Given the description of an element on the screen output the (x, y) to click on. 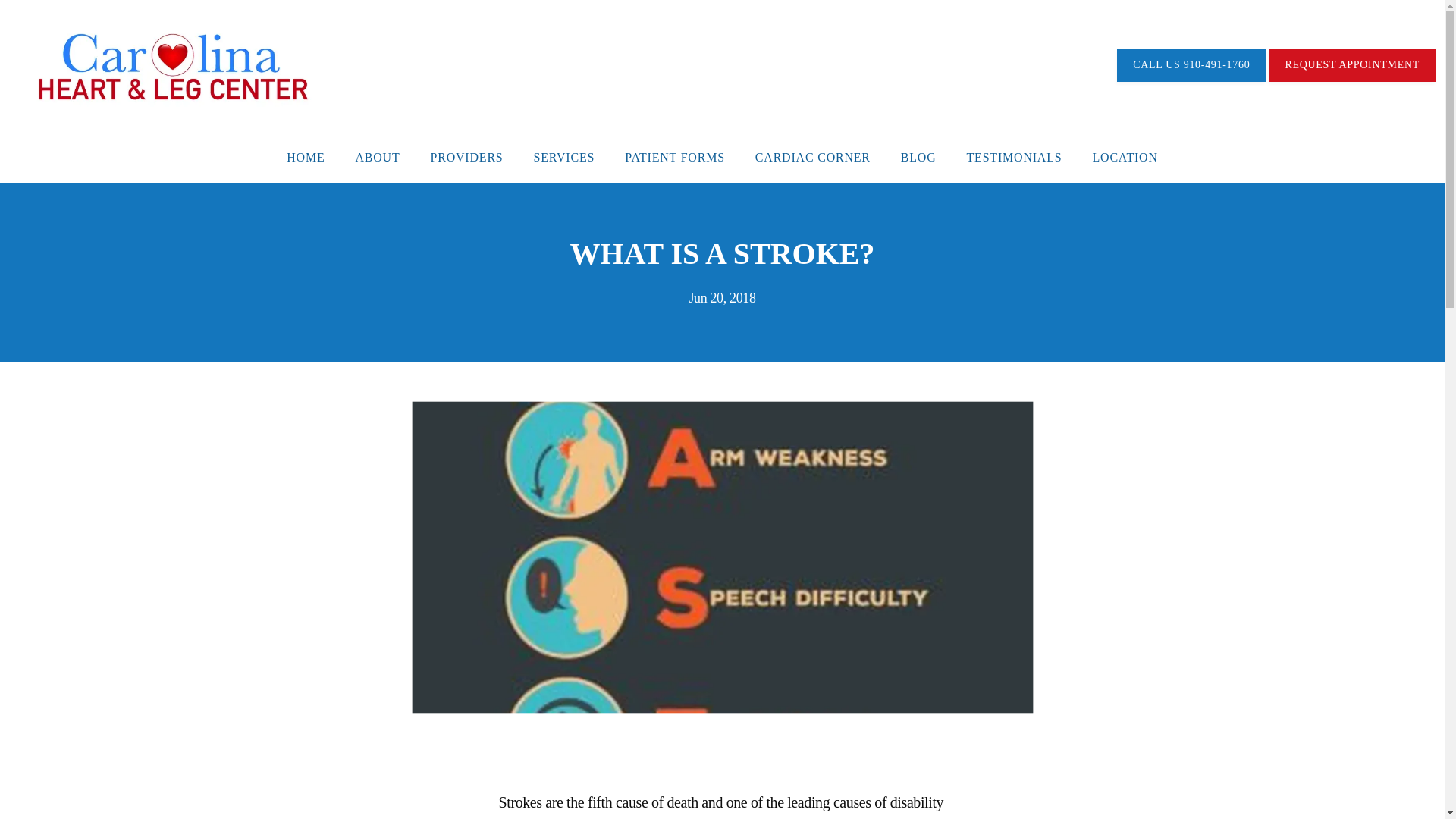
PATIENT FORMS (674, 156)
TESTIMONIALS (1014, 156)
SERVICES (564, 156)
BLOG (918, 156)
PROVIDERS (466, 156)
CARDIAC CORNER (812, 156)
REQUEST APPOINTMENT (1351, 65)
HOME (305, 156)
CALL US 910-491-1760 (1190, 65)
ABOUT (376, 156)
